Given the description of an element on the screen output the (x, y) to click on. 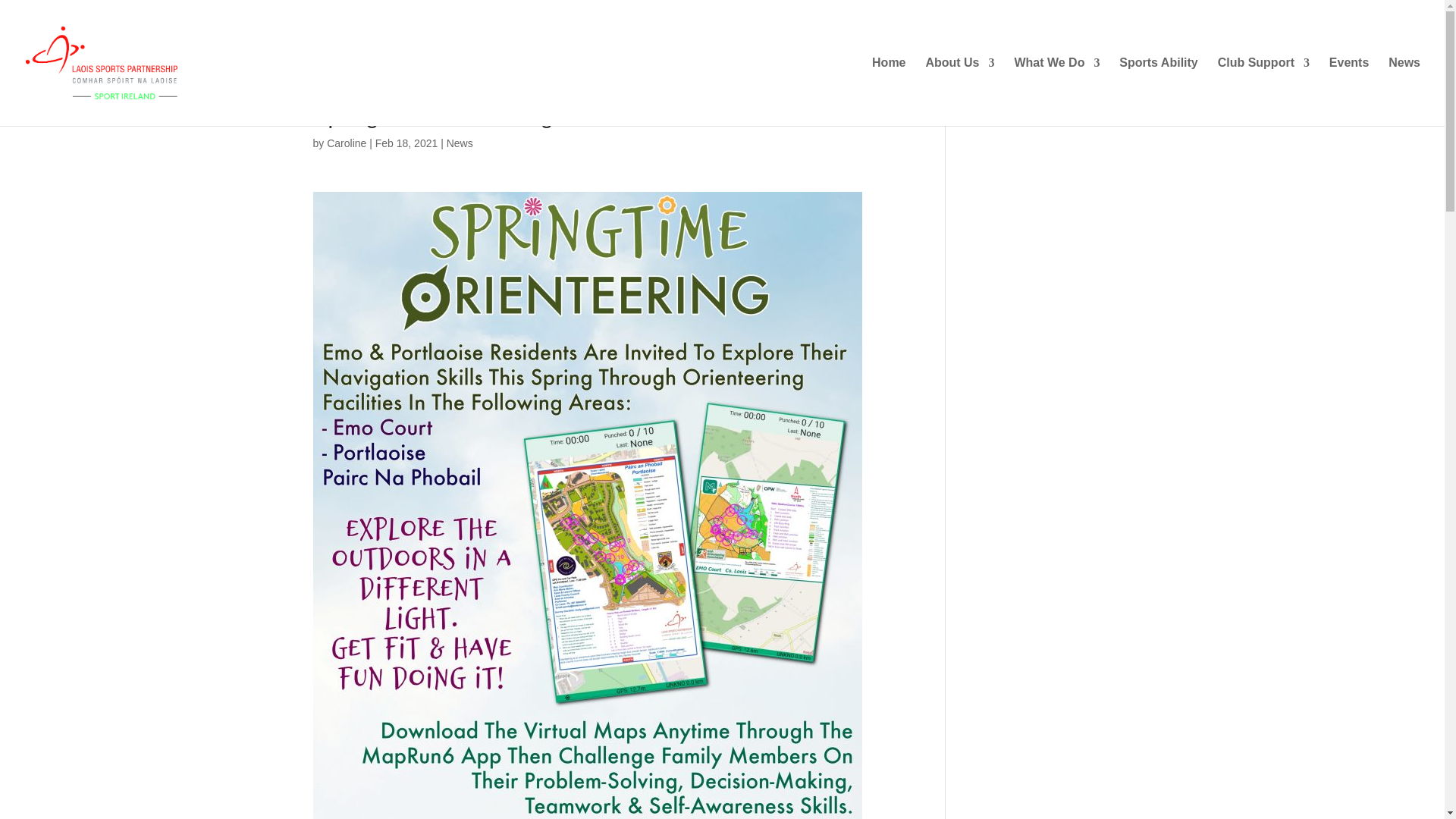
News (459, 143)
What We Do (1056, 91)
About Us (959, 91)
Sports Ability (1157, 91)
Caroline (346, 143)
Tweets by LaoisSportsLSP (1031, 112)
Posts by Caroline (346, 143)
Club Support (1262, 91)
